Given the description of an element on the screen output the (x, y) to click on. 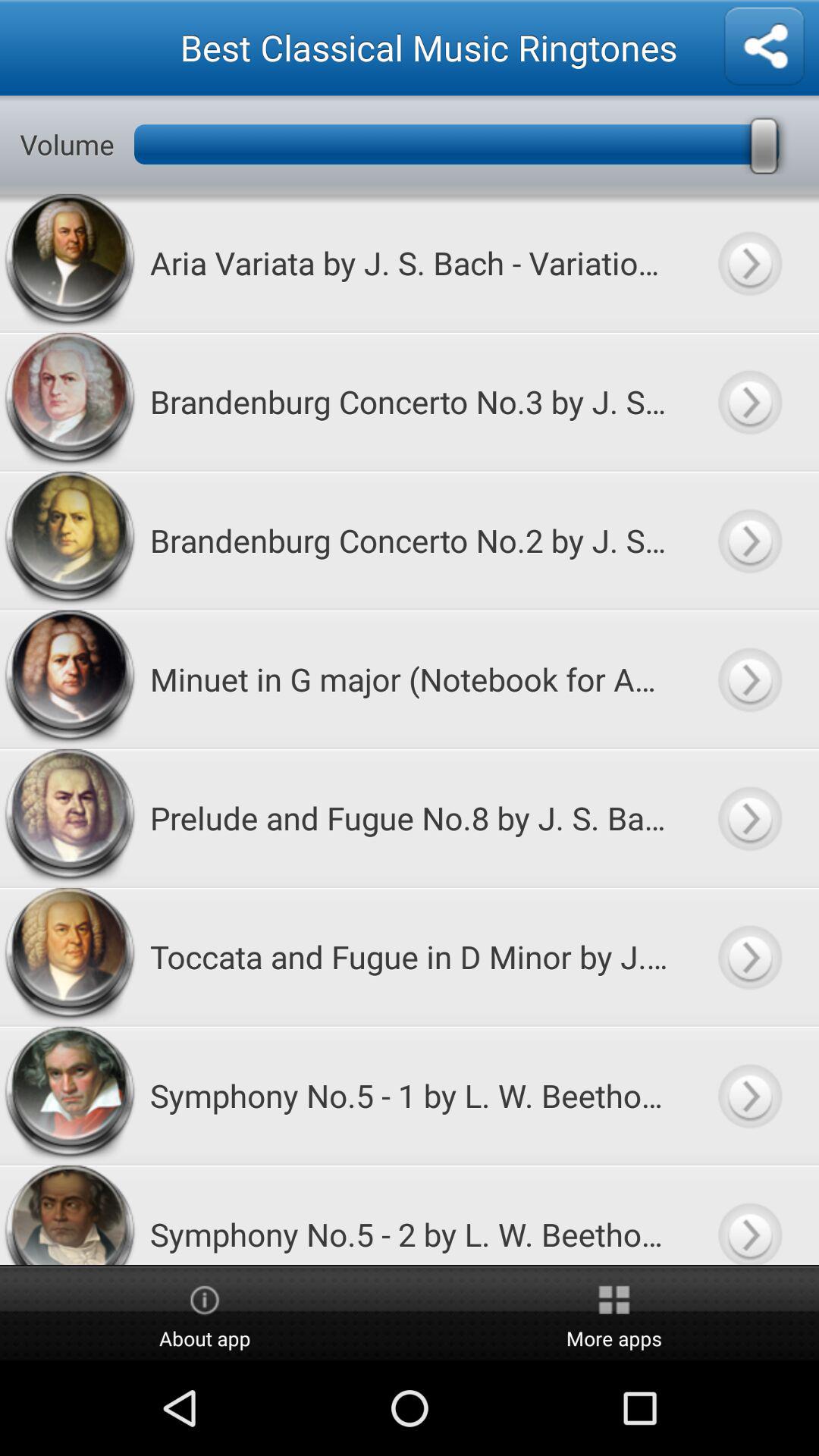
share ringtones (764, 47)
